Given the description of an element on the screen output the (x, y) to click on. 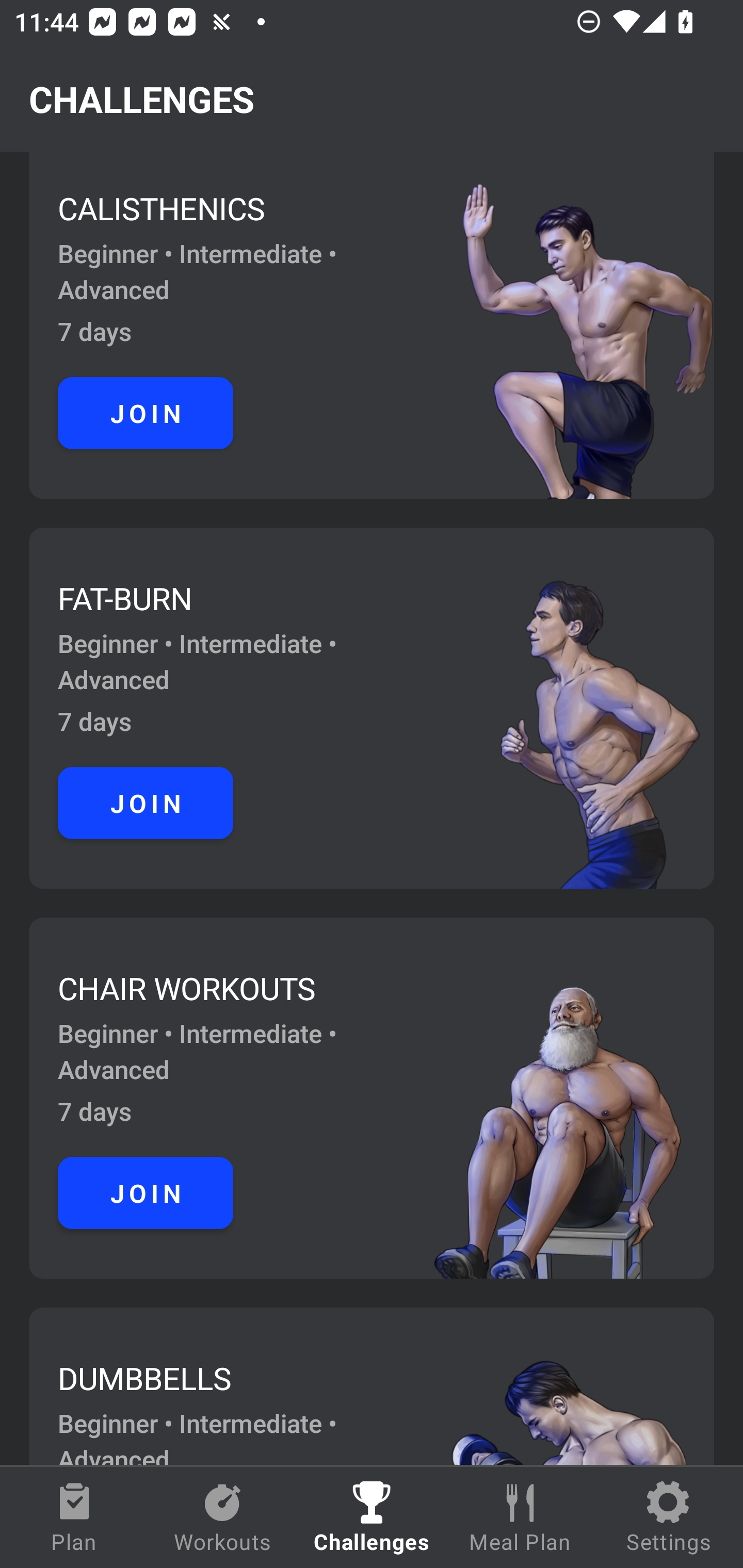
JOIN (145, 413)
JOIN (145, 803)
JOIN (145, 1192)
 Plan  (74, 1517)
 Workouts  (222, 1517)
 Meal Plan  (519, 1517)
 Settings  (668, 1517)
